Given the description of an element on the screen output the (x, y) to click on. 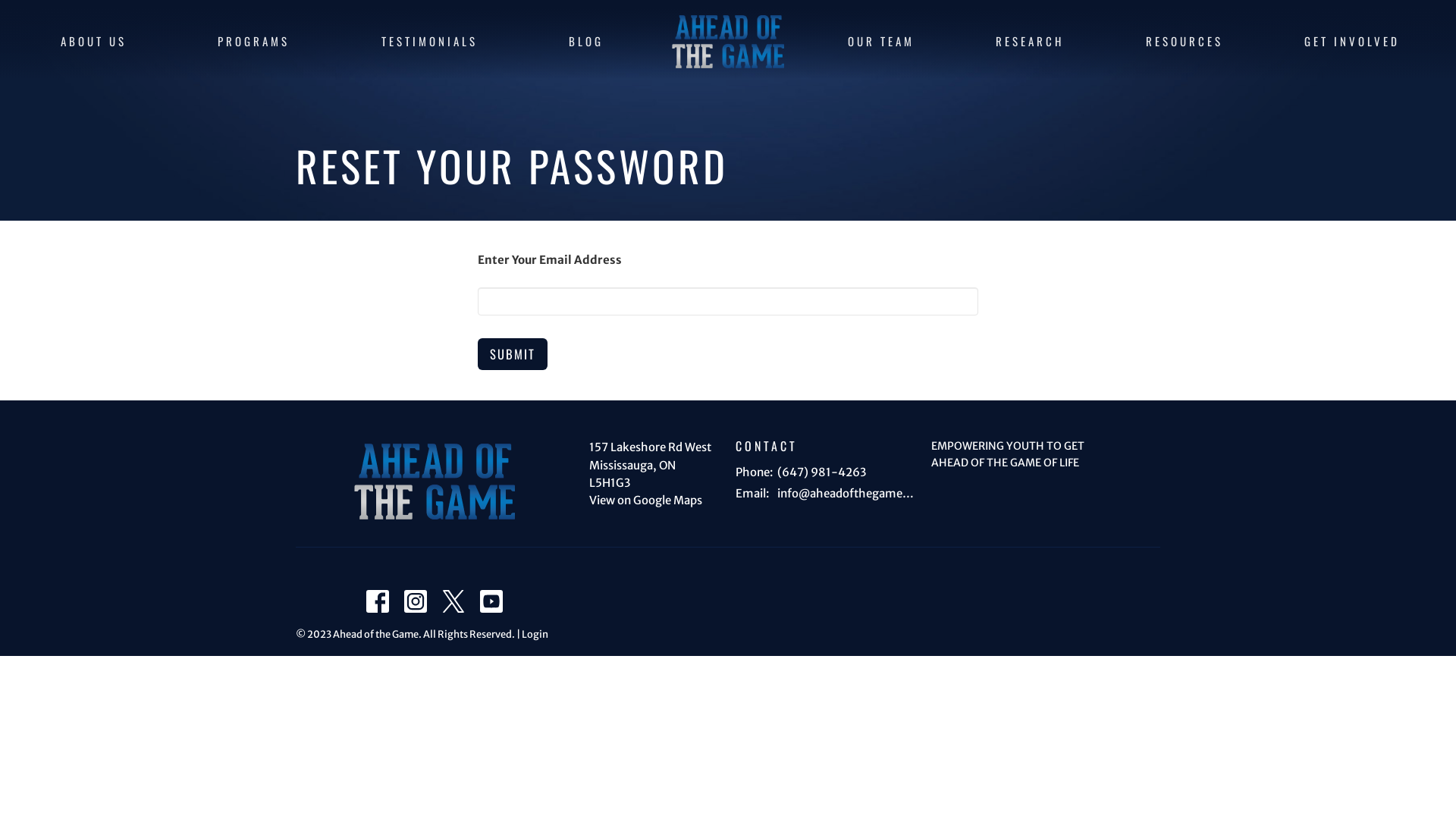
ABOUT US Element type: text (93, 40)
info@aheadofthegame.ca Element type: text (846, 493)
RESEARCH Element type: text (1029, 40)
PROGRAMS Element type: text (253, 40)
SUBMIT Element type: text (512, 354)
BLOG Element type: text (585, 40)
OUR TEAM Element type: text (880, 40)
GET INVOLVED Element type: text (1351, 40)
(647) 981-4263 Element type: text (821, 471)
Login Element type: text (534, 633)
RESOURCES Element type: text (1184, 40)
TESTIMONIALS Element type: text (428, 40)
View on Google Maps Element type: text (645, 499)
